Given the description of an element on the screen output the (x, y) to click on. 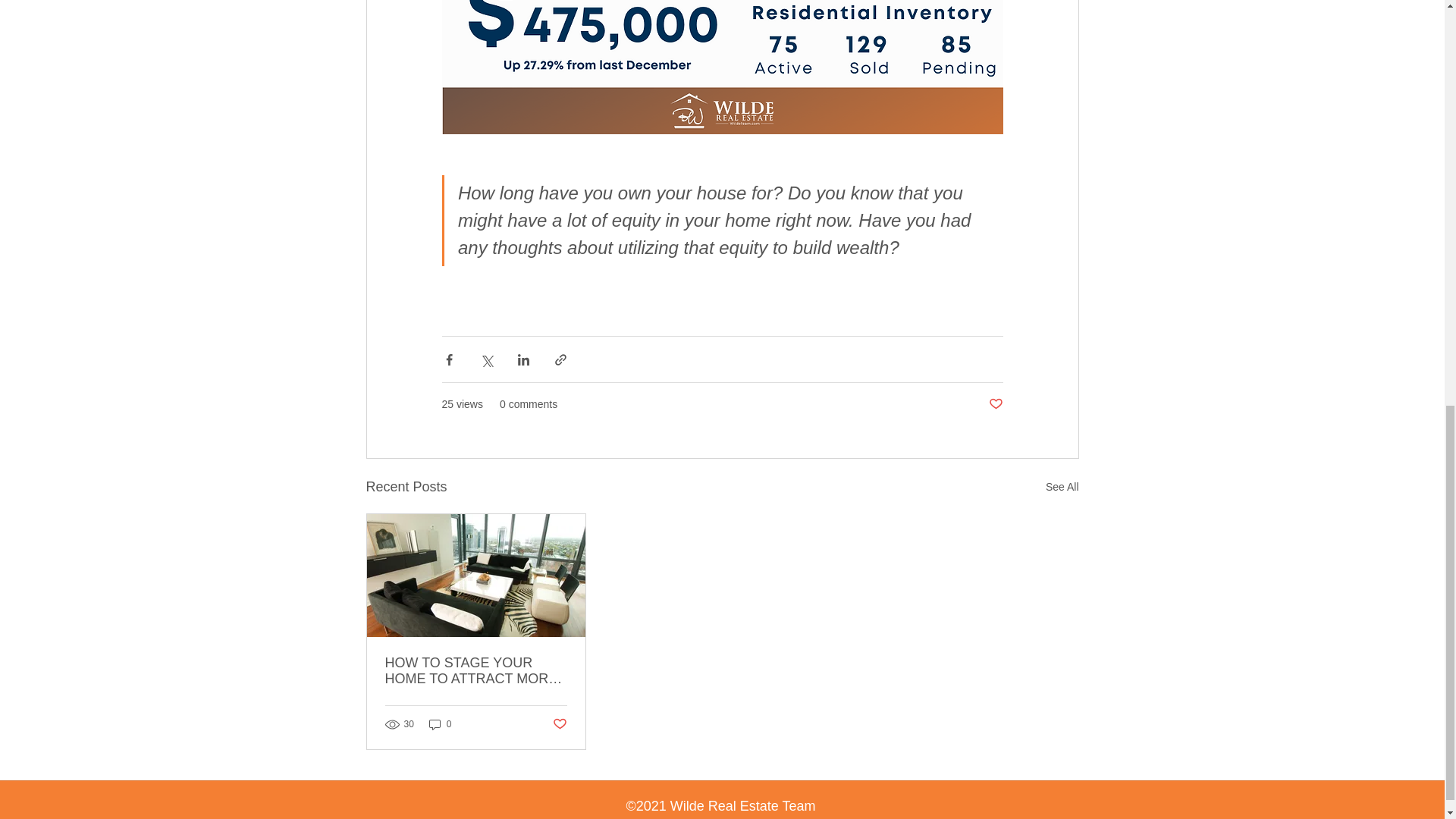
See All (1061, 486)
Post not marked as liked (558, 724)
HOW TO STAGE YOUR HOME TO ATTRACT MORE BUYERS! (476, 671)
0 (440, 724)
Post not marked as liked (995, 404)
